Given the description of an element on the screen output the (x, y) to click on. 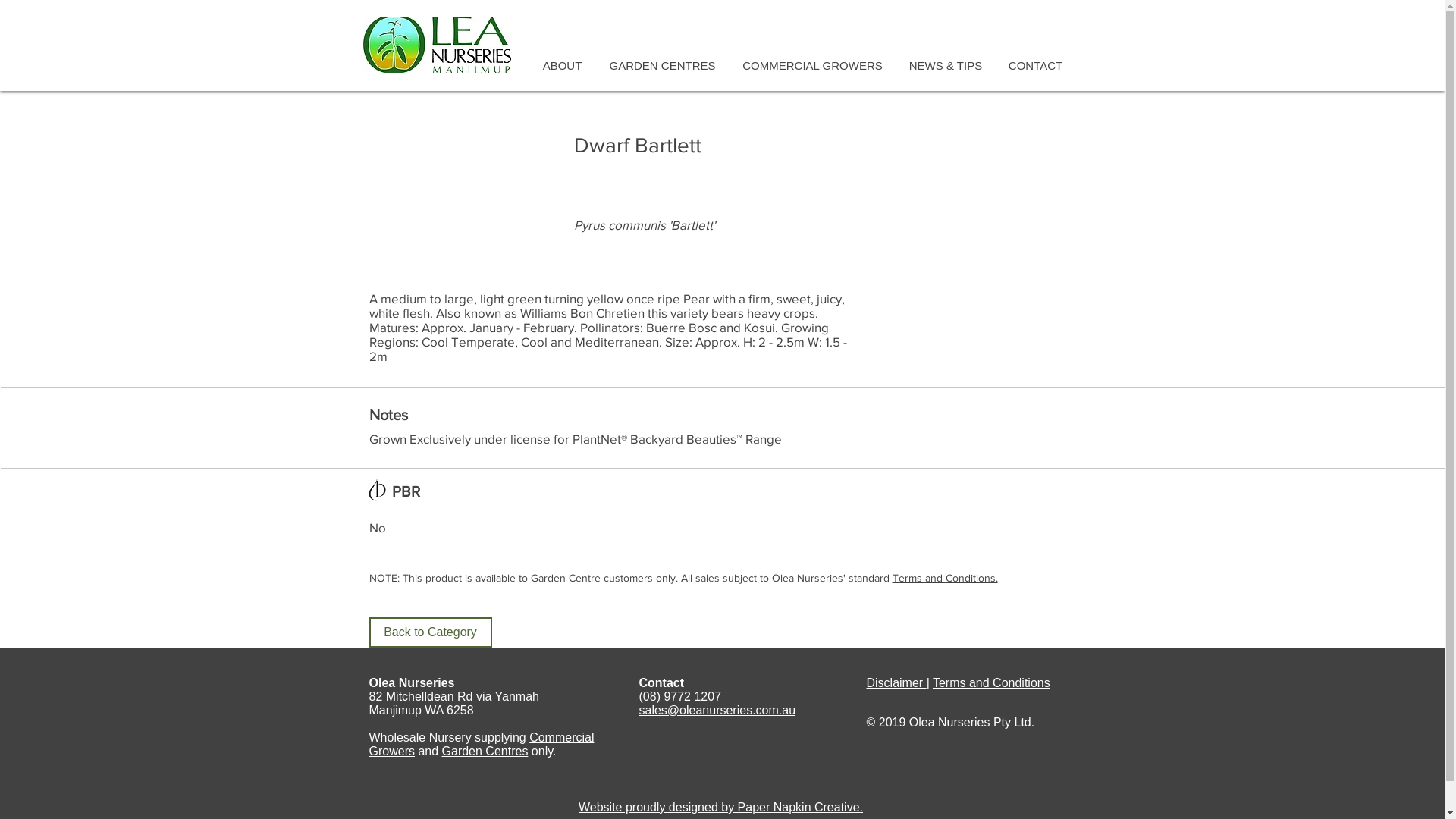
CONTACT Element type: text (1034, 65)
Terms and Conditions Element type: text (991, 682)
COMMERCIAL GROWERS Element type: text (812, 65)
olea logo final.jpg Element type: hover (436, 44)
Terms and Conditions. Element type: text (944, 577)
Disclaimer Element type: text (895, 682)
Commercial Growers Element type: text (480, 744)
Back to Category Element type: text (429, 632)
sales@oleanurseries.com.au Element type: text (716, 709)
Screen Shot 2019-02-28 at 8.54.28 am.png Element type: hover (377, 489)
GARDEN CENTRES Element type: text (662, 65)
ABOUT Element type: text (562, 65)
Garden Centres Element type: text (485, 750)
Website proudly designed by Paper Napkin Creative. Element type: text (720, 806)
NEWS & TIPS Element type: text (945, 65)
